Given the description of an element on the screen output the (x, y) to click on. 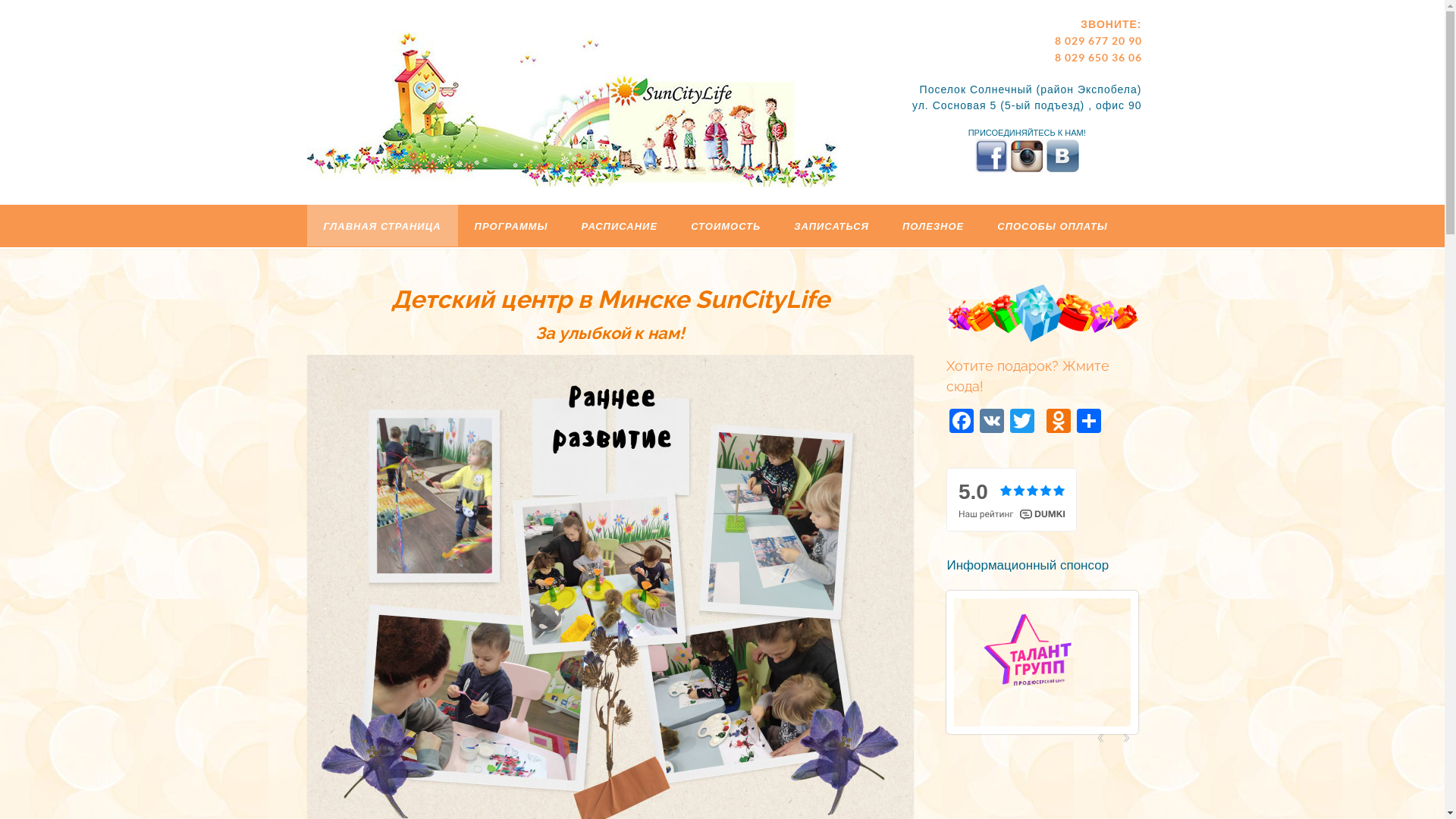
8 029 677 20 90 Element type: text (1097, 40)
8 029 650 36 06 Element type: text (1097, 56)
VK Element type: text (991, 422)
Facebook Element type: text (961, 422)
Odnoklassniki Element type: text (1058, 422)
Twitter Element type: text (1022, 422)
